Given the description of an element on the screen output the (x, y) to click on. 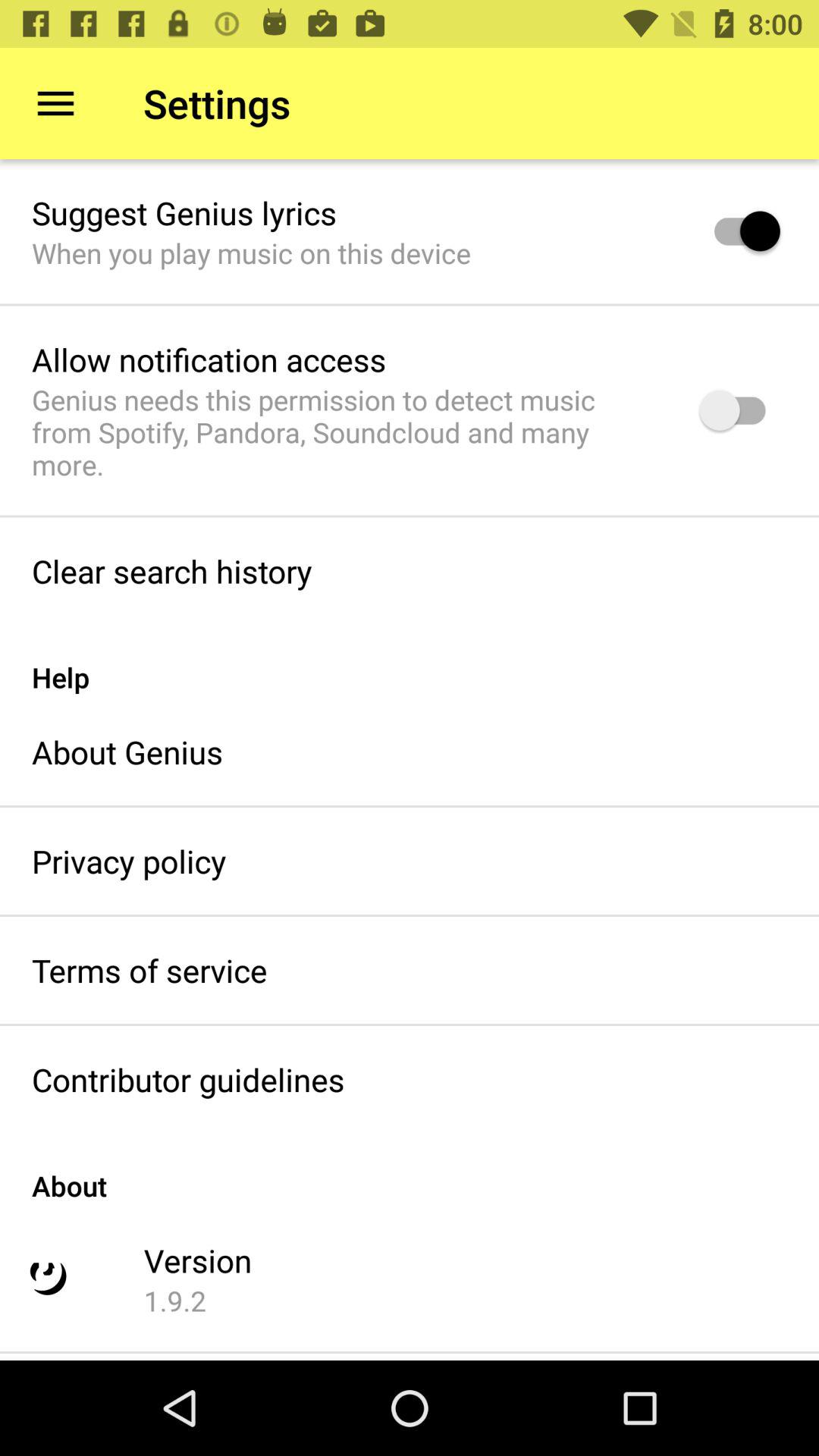
select the 1.9.2 icon (174, 1300)
